Given the description of an element on the screen output the (x, y) to click on. 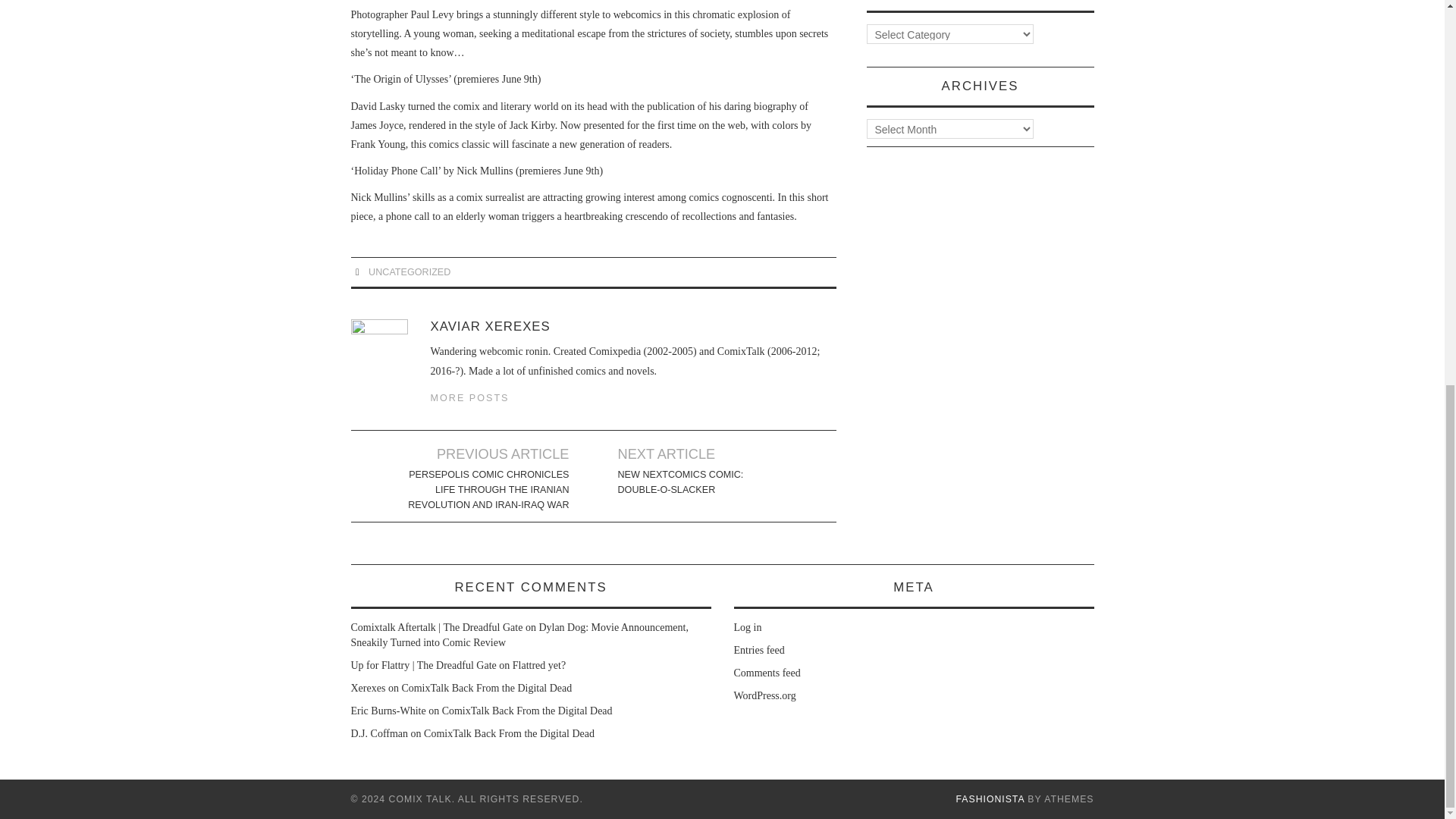
NEW NEXTCOMICS COMIC: DOUBLE-O-SLACKER (702, 481)
MORE POSTS (469, 398)
